Given the description of an element on the screen output the (x, y) to click on. 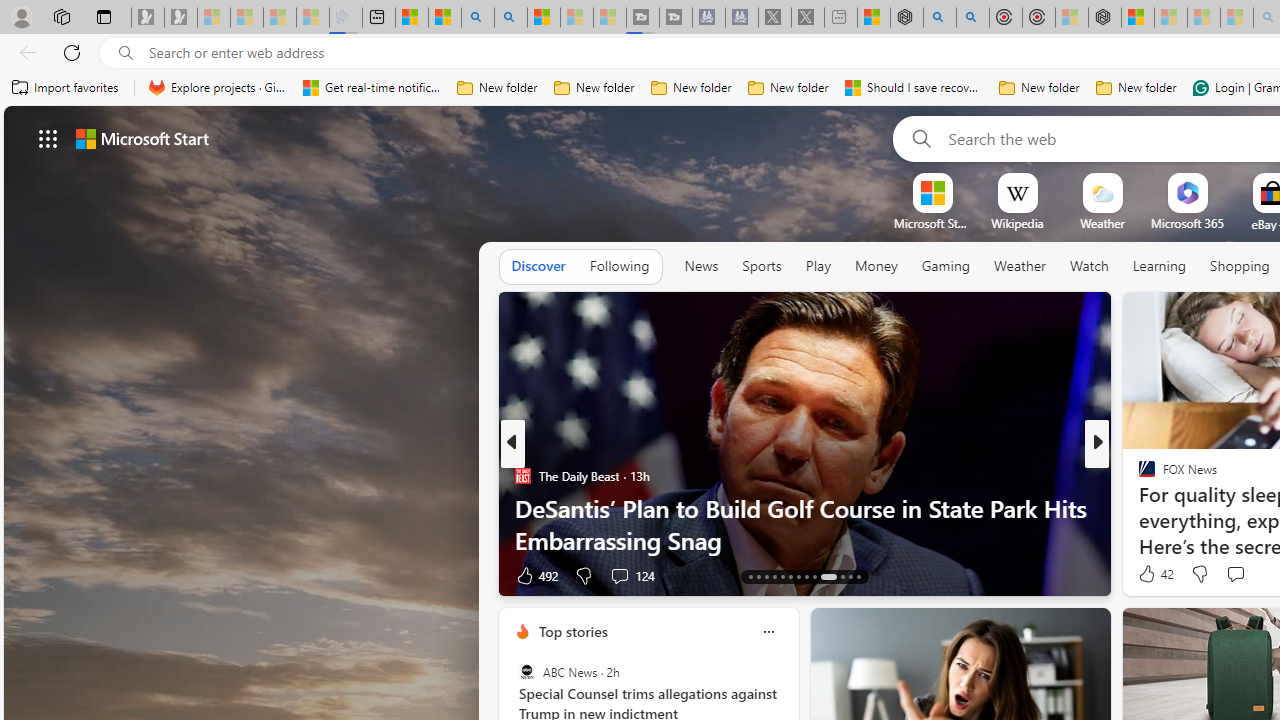
Shopping (1240, 265)
Streaming Coverage | T3 - Sleeping (643, 17)
AutomationID: tab-20 (806, 576)
poe - Search (940, 17)
View comments 2 Comment (1241, 574)
AutomationID: tab-25 (857, 576)
New folder (1136, 88)
AutomationID: tab-21 (814, 576)
Gaming (945, 265)
